Given the description of an element on the screen output the (x, y) to click on. 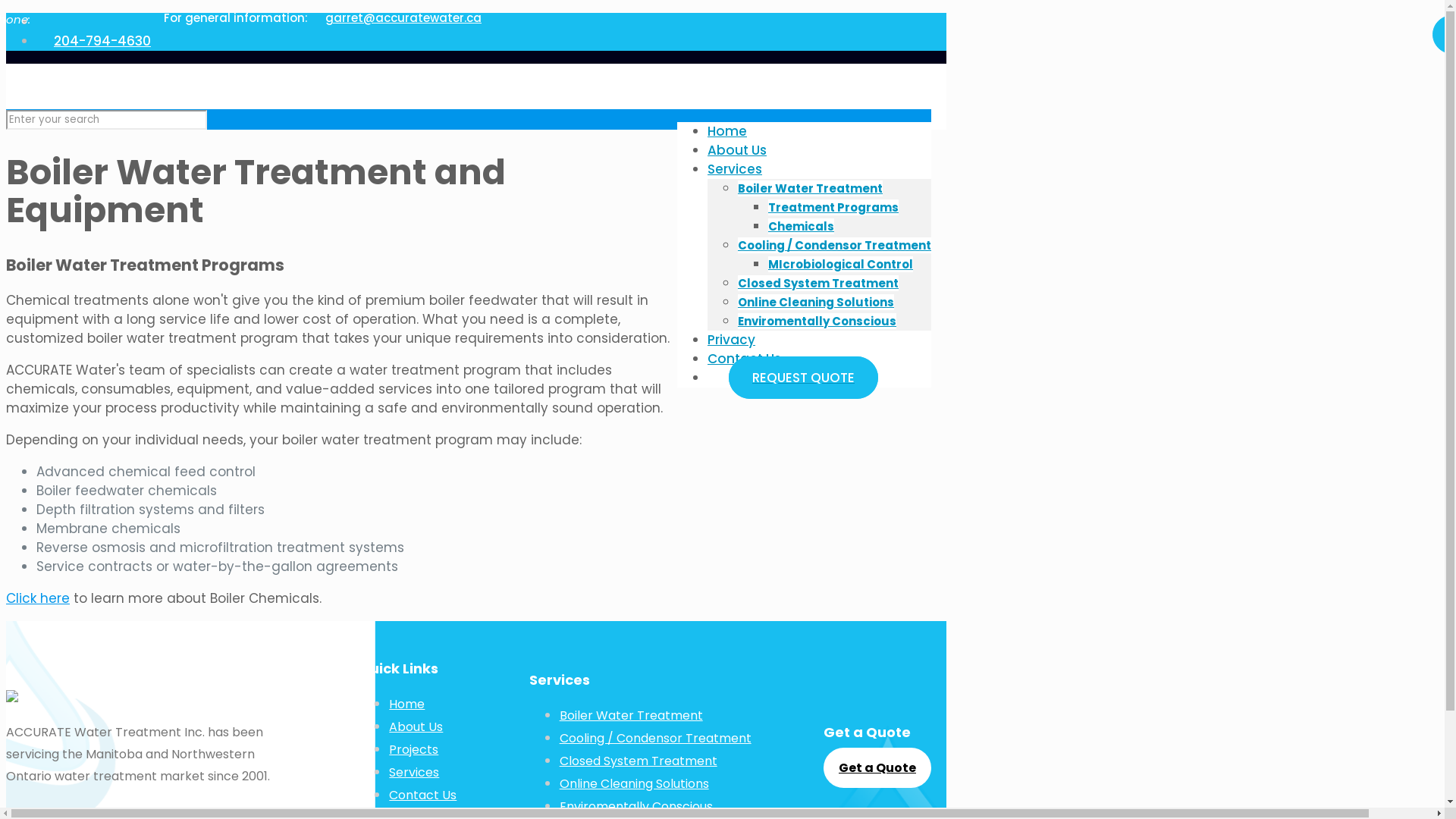
Services Element type: text (414, 772)
Enviromentally Conscious Element type: text (635, 806)
Services Element type: text (734, 168)
Cooling / Condensor Treatment Element type: text (655, 737)
Get a Quote Element type: text (877, 767)
REQUEST QUOTE Element type: text (803, 377)
Privacy Element type: text (731, 339)
Online Cleaning Solutions Element type: text (815, 302)
Treatment Programs Element type: text (833, 207)
Contact Us Element type: text (422, 794)
Contact Us Element type: text (744, 358)
Chemicals Element type: text (801, 226)
MIcrobiological Control Element type: text (840, 264)
garret@accuratewater.ca Element type: text (394, 17)
Closed System Treatment Element type: text (638, 760)
204-794-4630 Element type: text (93, 40)
About Us Element type: text (736, 149)
Click here Element type: text (37, 598)
Home Element type: text (406, 703)
Boiler Water Treatment Element type: text (809, 188)
Projects Element type: text (413, 749)
Enviromentally Conscious Element type: text (816, 321)
Boiler Water Treatment Element type: text (630, 715)
Cooling / Condensor Treatment Element type: text (834, 245)
Online Cleaning Solutions Element type: text (634, 783)
About Us Element type: text (415, 726)
Closed System Treatment Element type: text (817, 283)
Home Element type: text (726, 130)
